Given the description of an element on the screen output the (x, y) to click on. 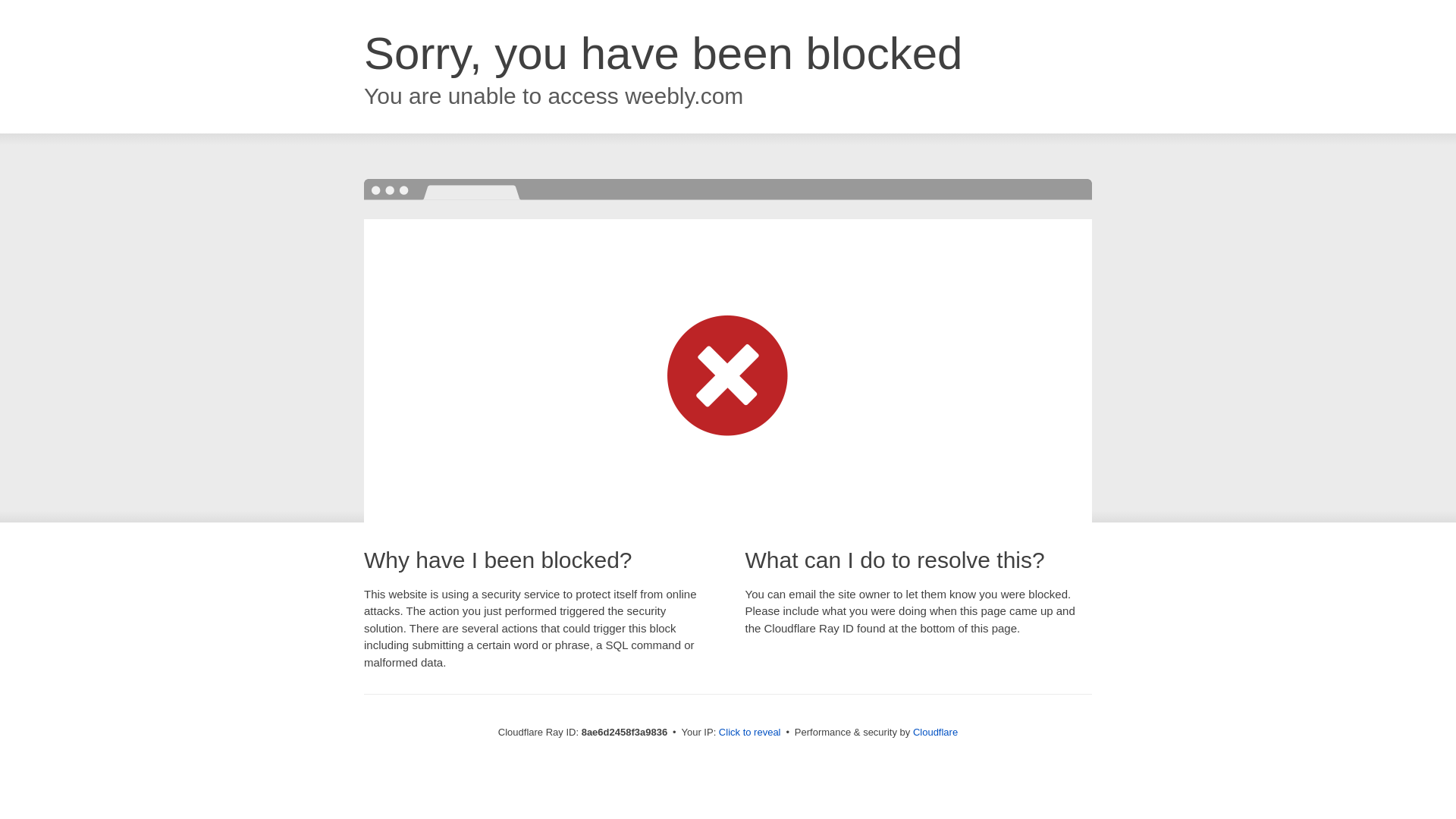
Click to reveal (749, 732)
Cloudflare (935, 731)
